Given the description of an element on the screen output the (x, y) to click on. 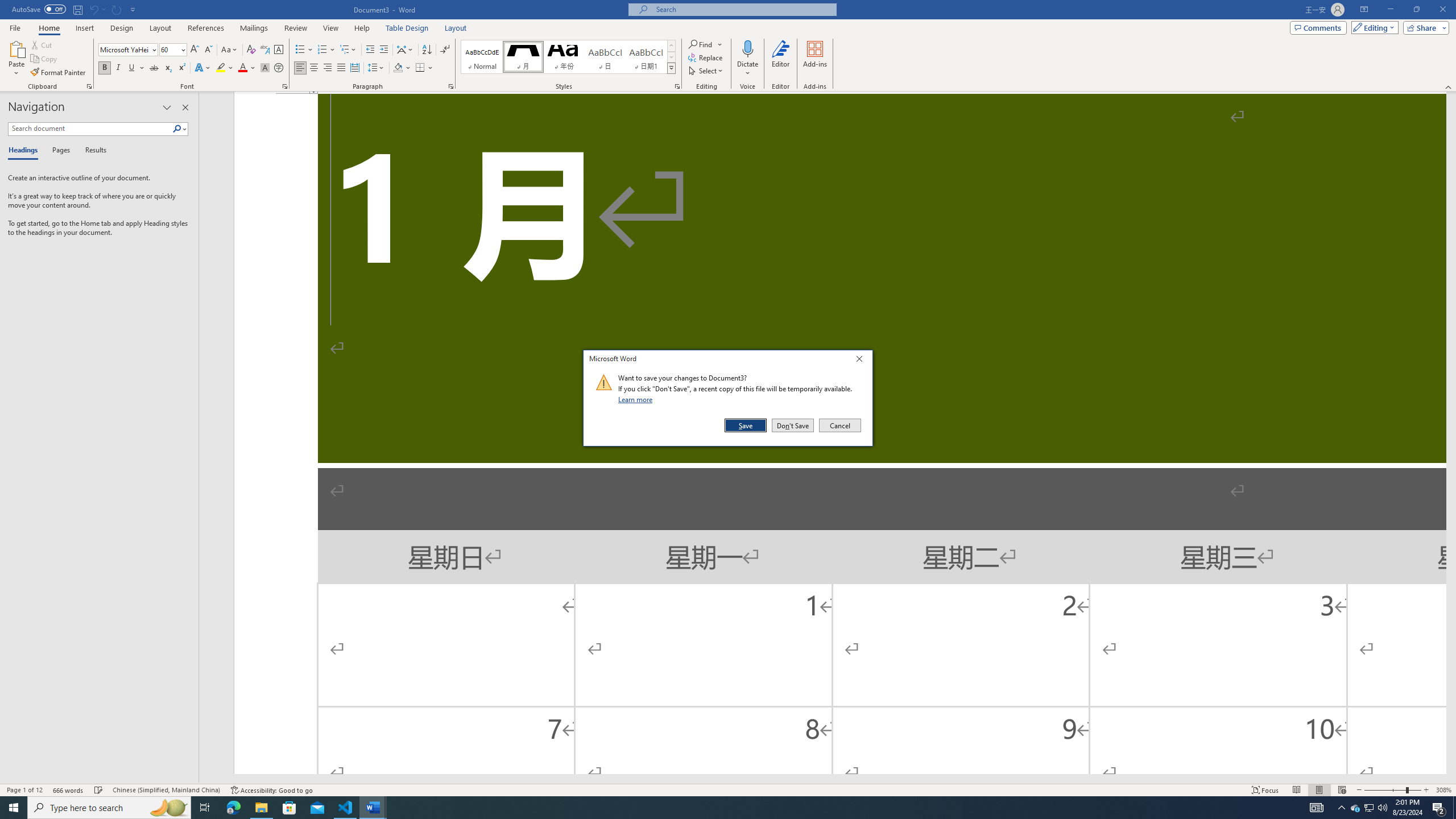
Class: NetUIScrollBar (822, 778)
Mode (1372, 27)
Search (179, 128)
Table Design (407, 28)
Dictate (747, 58)
Justify (340, 67)
Microsoft search (742, 9)
Enclose Characters... (278, 67)
Styles (670, 67)
Zoom Out (1385, 790)
Numbering (326, 49)
User Promoted Notification Area (1368, 807)
Type here to search (108, 807)
Format Painter (58, 72)
